Given the description of an element on the screen output the (x, y) to click on. 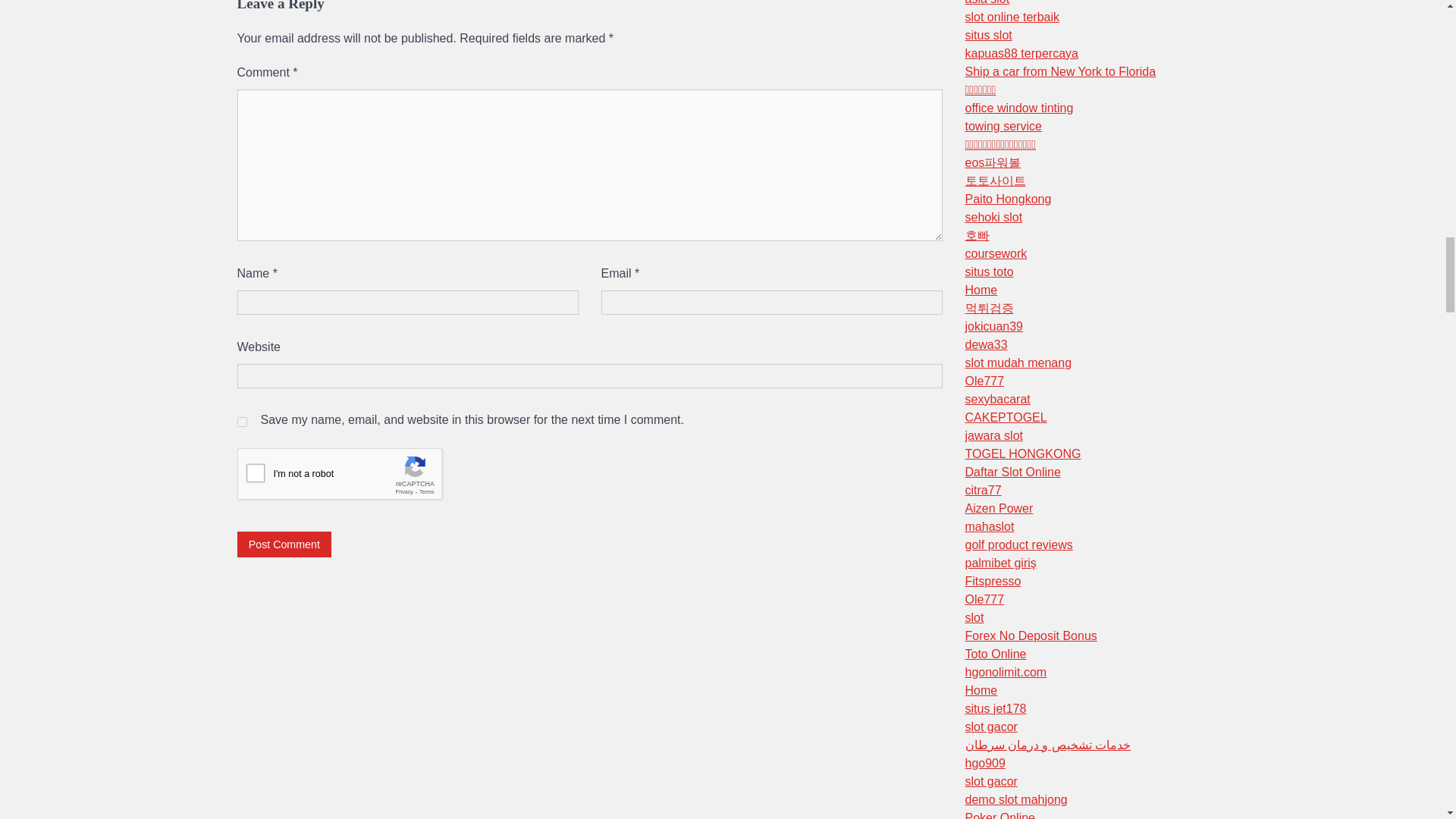
reCAPTCHA (351, 476)
Post Comment (283, 543)
yes (240, 421)
Post Comment (283, 543)
